Given the description of an element on the screen output the (x, y) to click on. 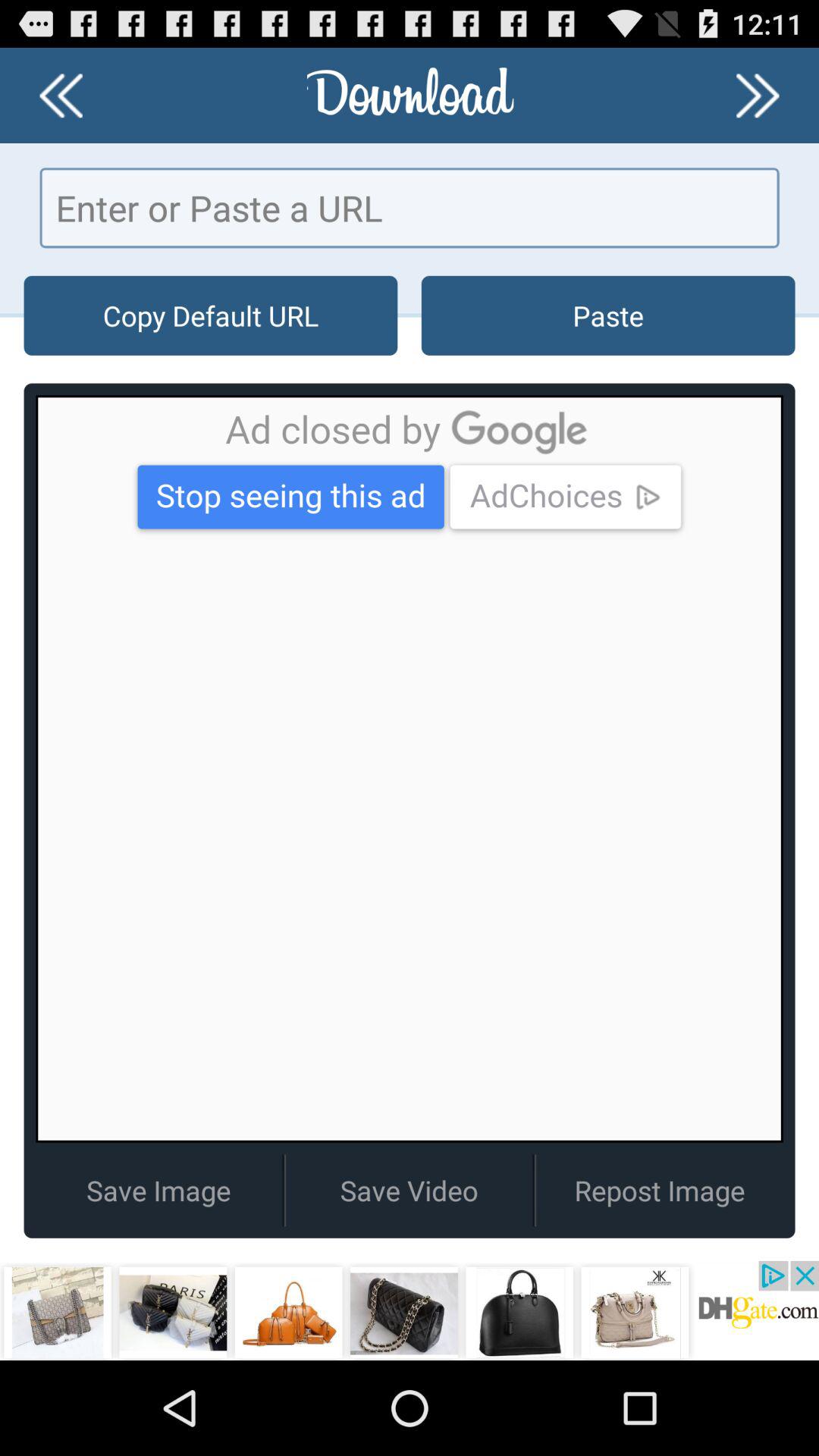
go back (61, 95)
